Given the description of an element on the screen output the (x, y) to click on. 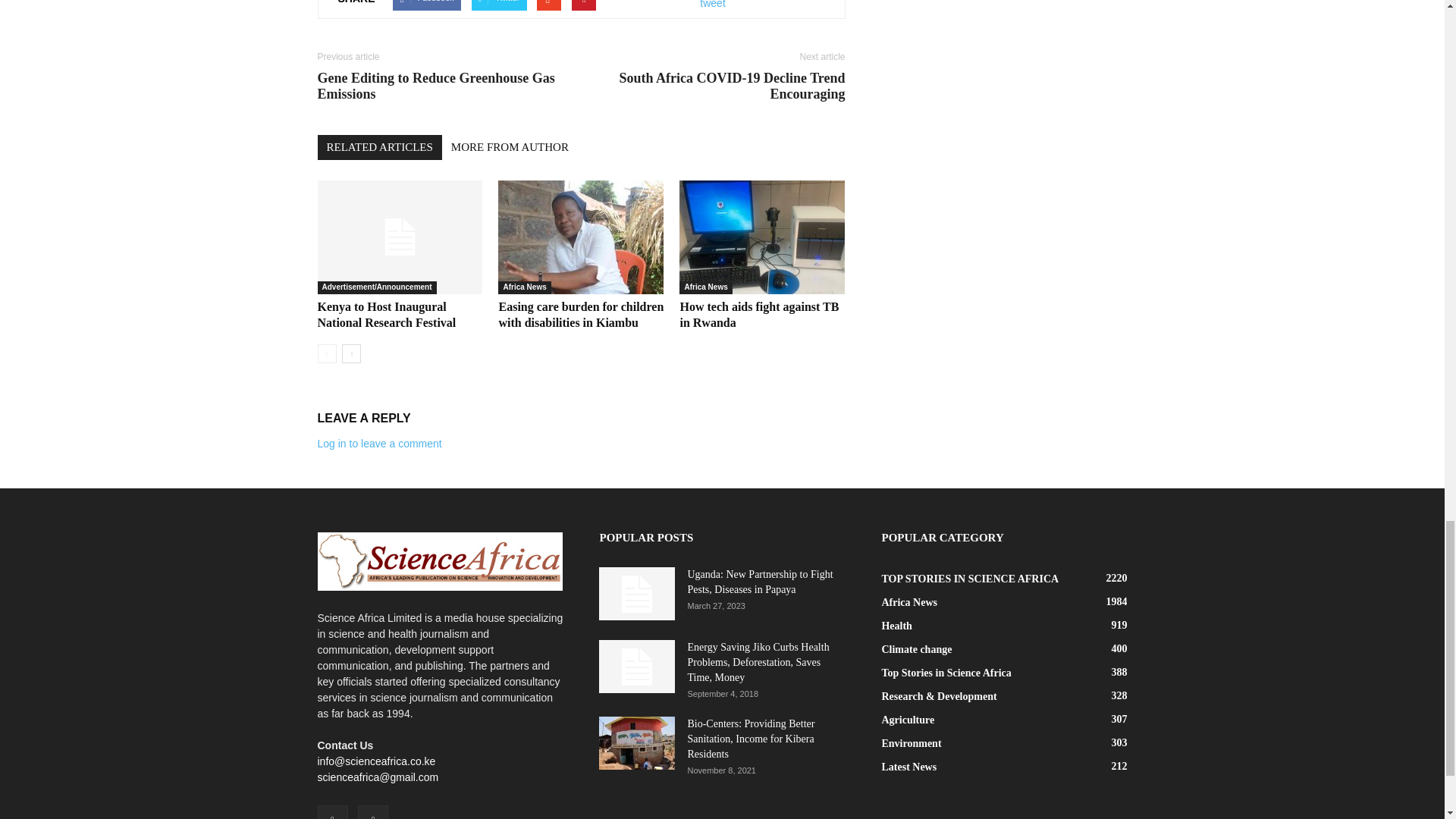
Easing care burden for children with disabilities in Kiambu (580, 314)
How tech aids fight against TB in Rwanda (758, 314)
How tech aids fight against TB in Rwanda (761, 237)
Easing care burden for children with disabilities in Kiambu (580, 237)
Kenya to Host Inaugural National Research Festival (399, 237)
Kenya to Host Inaugural National Research Festival (386, 314)
